Given the description of an element on the screen output the (x, y) to click on. 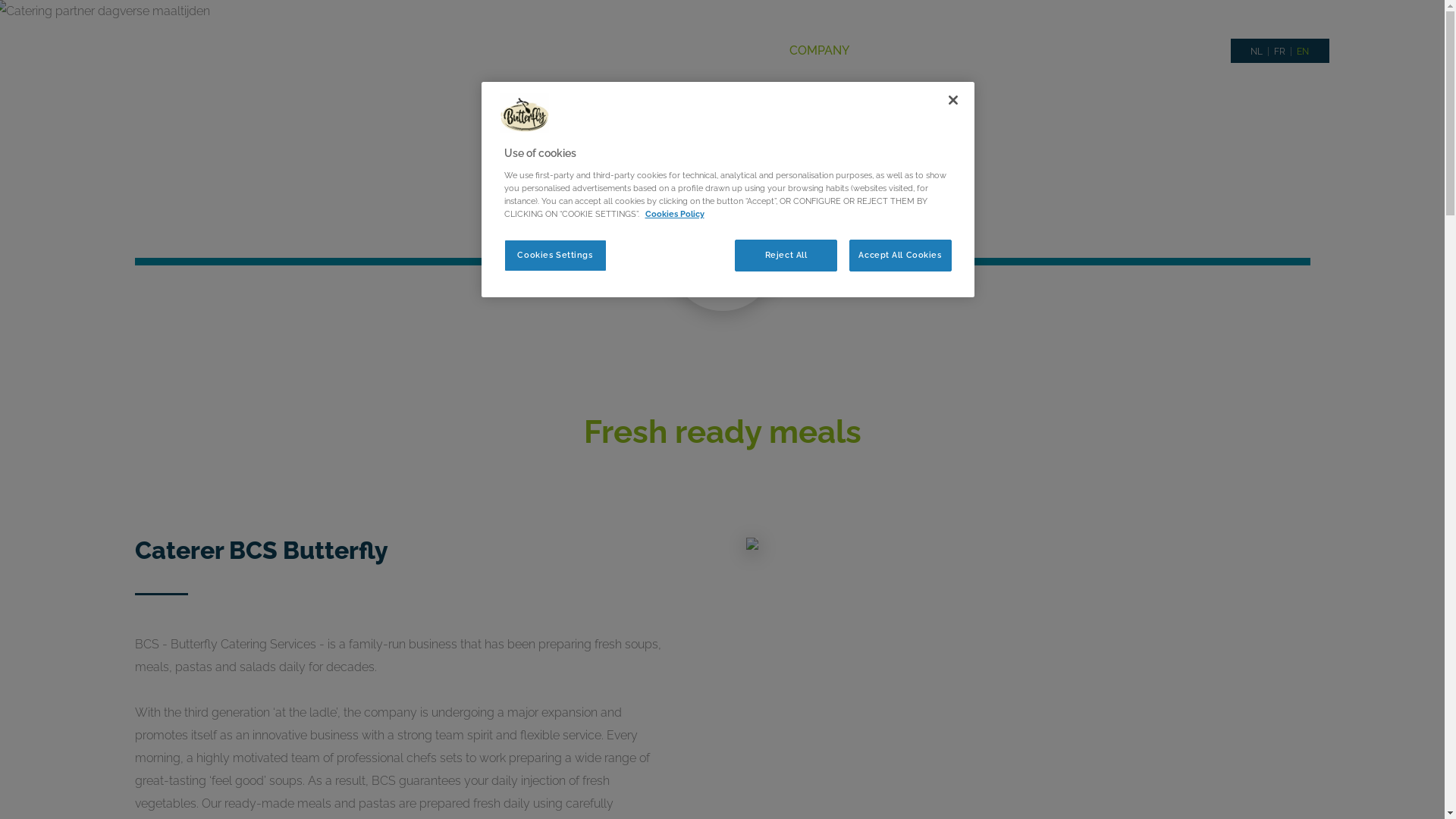
Cookies Settings Element type: text (554, 255)
Reject All Element type: text (785, 255)
COMPANY Element type: text (818, 50)
HOME Element type: text (742, 50)
EN Element type: text (1302, 51)
WANT TO MEET? Element type: text (1083, 50)
CONTACT Element type: text (1189, 50)
Cookies Policy Element type: text (673, 213)
NL Element type: text (1256, 51)
PRODUCTS Element type: text (909, 50)
NEWS Element type: text (987, 50)
Company Logo Element type: hover (524, 116)
Accept All Cookies Element type: text (900, 255)
FR Element type: text (1279, 51)
